Given the description of an element on the screen output the (x, y) to click on. 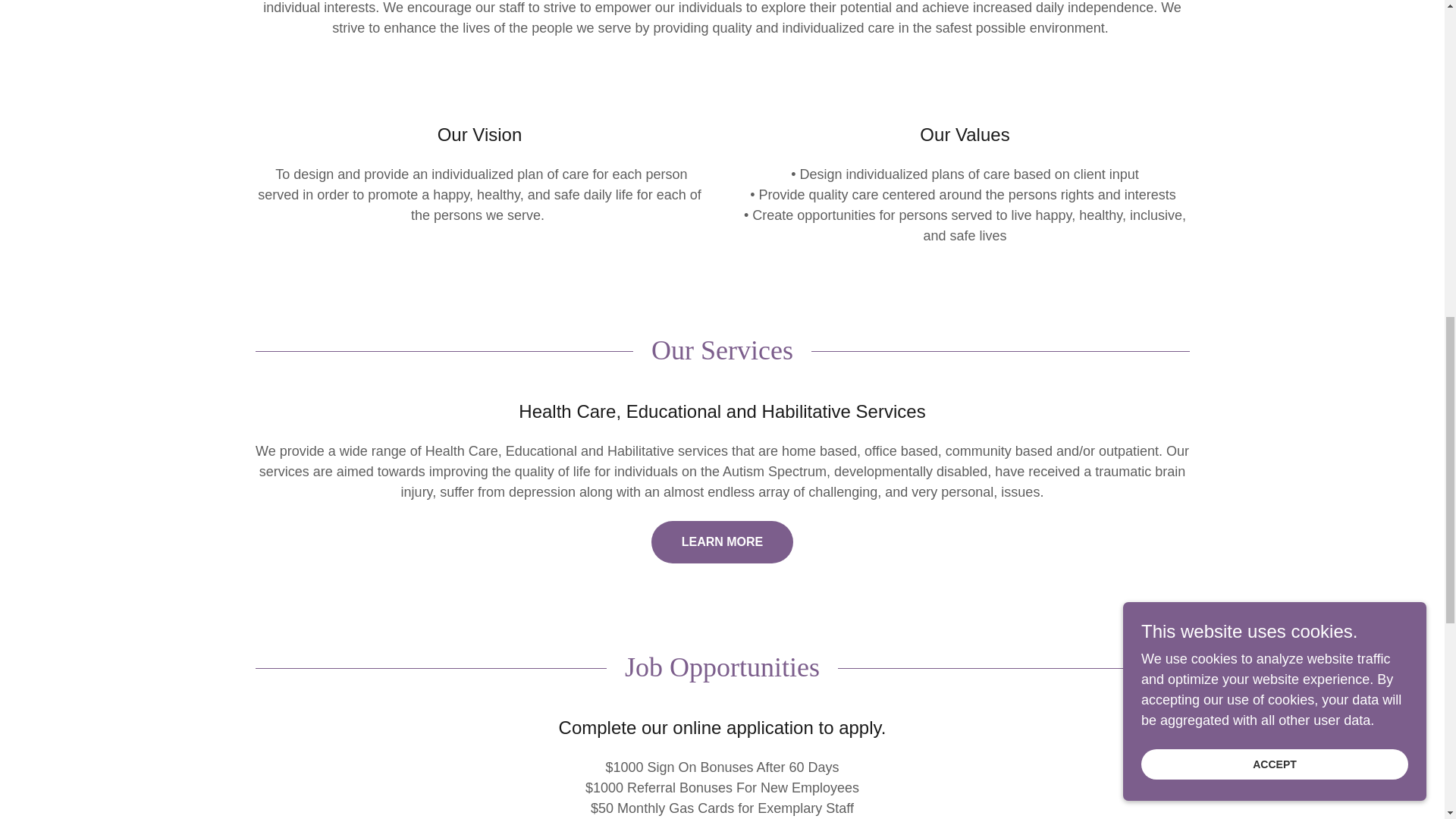
LEARN MORE (721, 541)
